Given the description of an element on the screen output the (x, y) to click on. 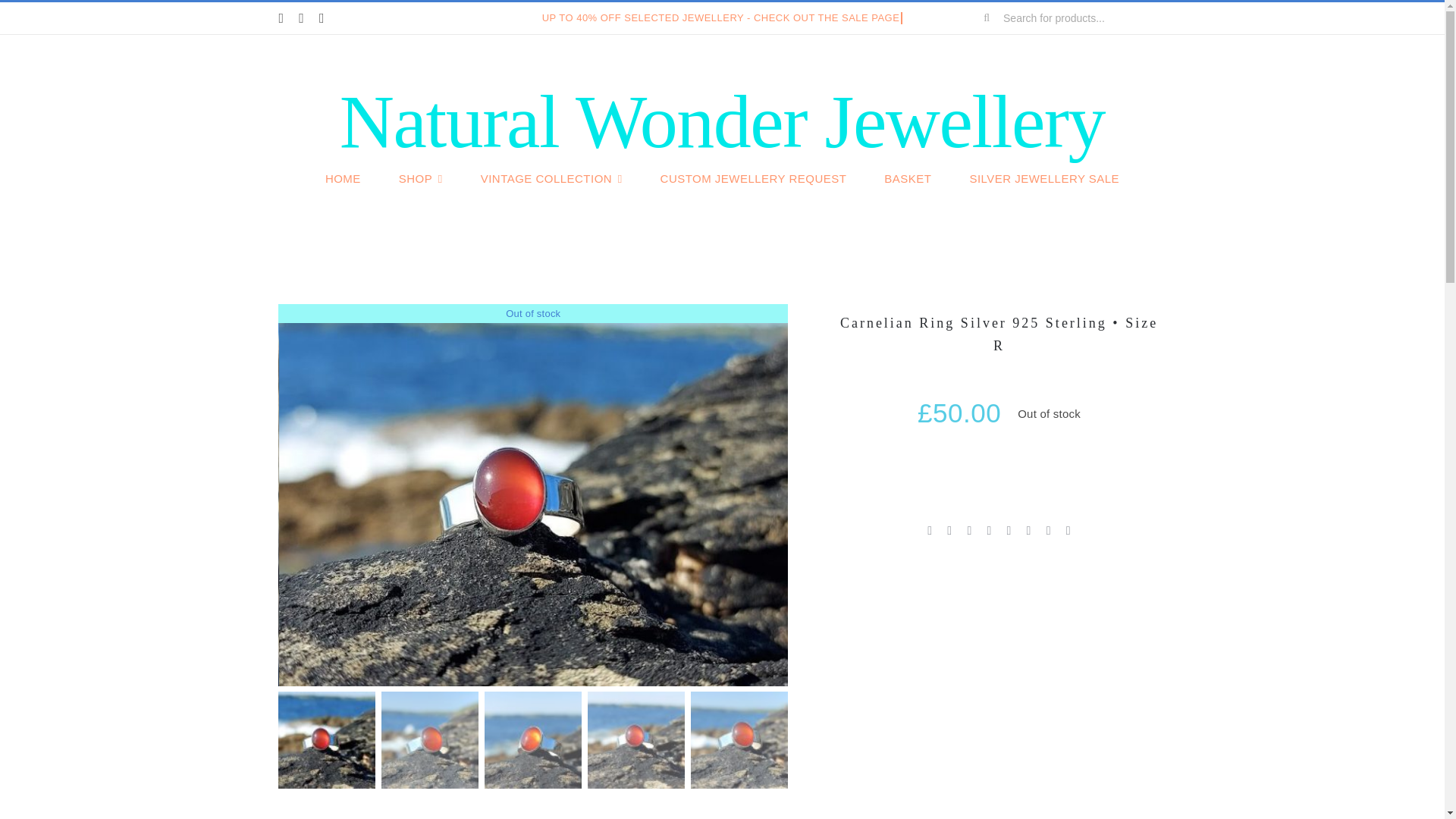
BASKET (907, 178)
SHOP (420, 178)
SILVER JEWELLERY SALE (1044, 178)
VINTAGE COLLECTION (551, 178)
CUSTOM JEWELLERY REQUEST (754, 178)
